Given the description of an element on the screen output the (x, y) to click on. 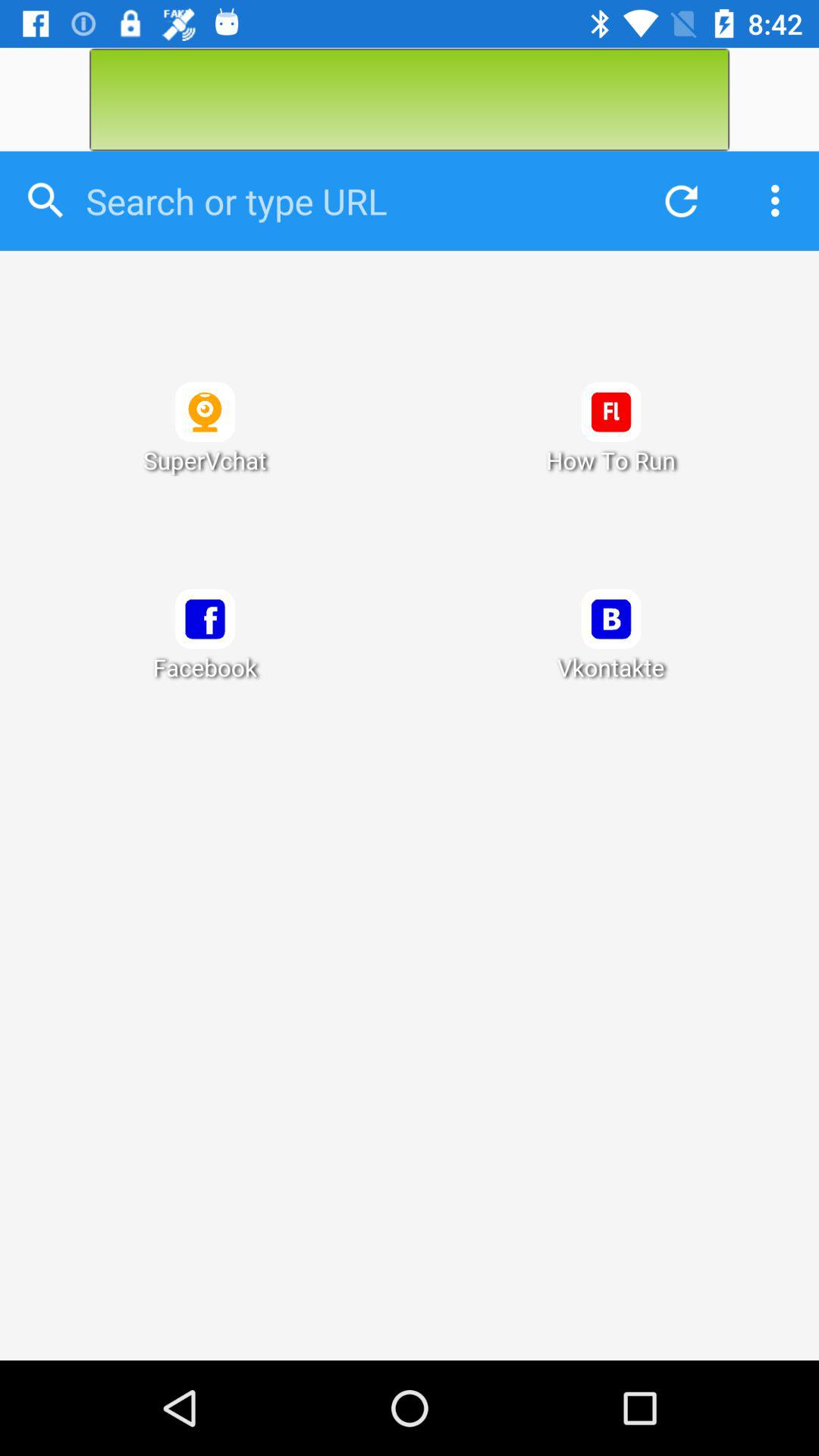
switch the search option (349, 200)
